Given the description of an element on the screen output the (x, y) to click on. 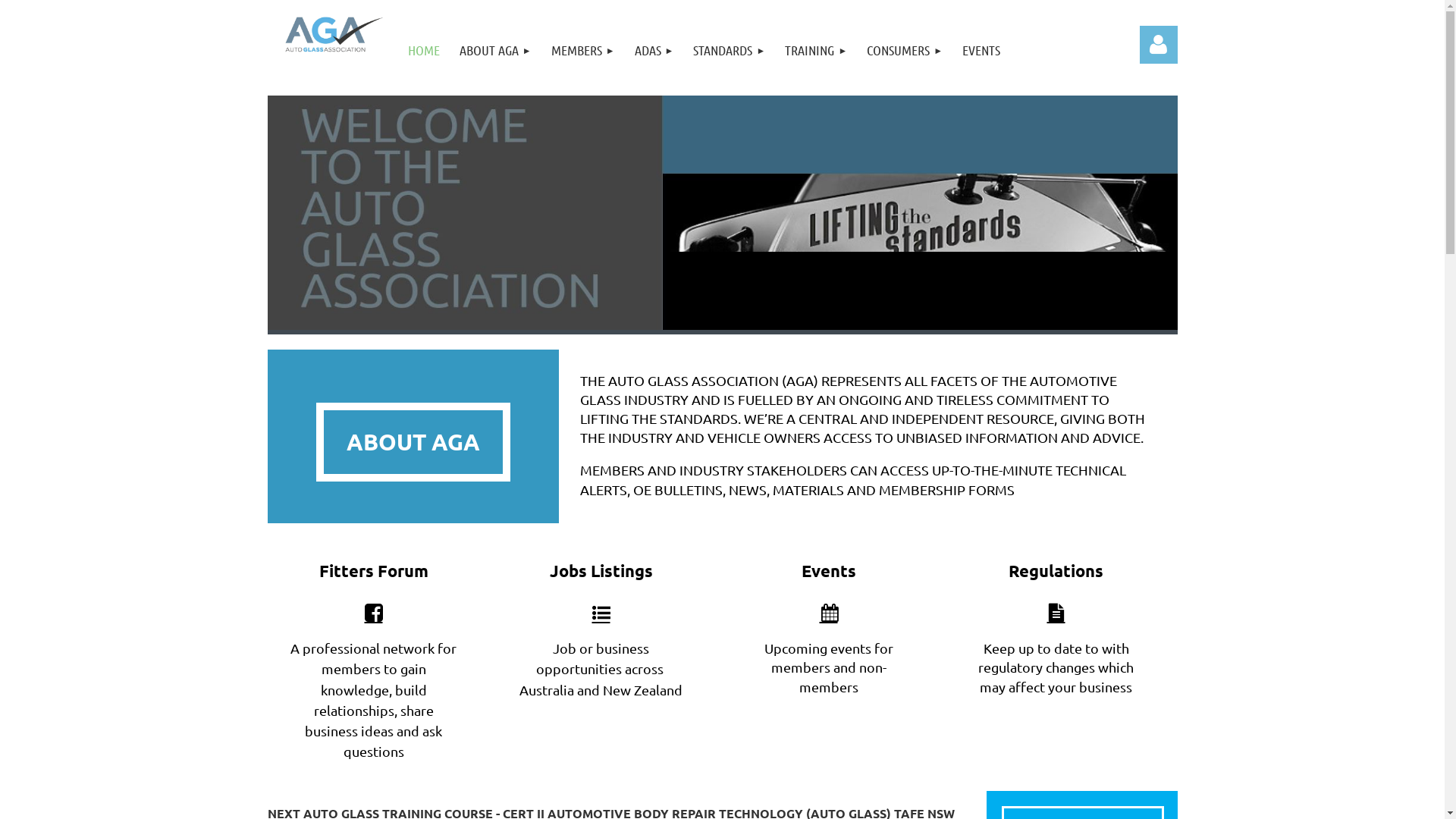
ABOUT AGA Element type: text (495, 50)
STANDARDS Element type: text (729, 50)
CONSUMERS Element type: text (904, 50)
Log in Element type: text (1157, 44)
ADAS Element type: text (654, 50)
ABOUT AGA Element type: text (412, 442)
MEMBERS Element type: text (582, 50)
EVENTS Element type: text (981, 50)
TRAINING Element type: text (815, 50)
HOME Element type: text (423, 50)
